Given the description of an element on the screen output the (x, y) to click on. 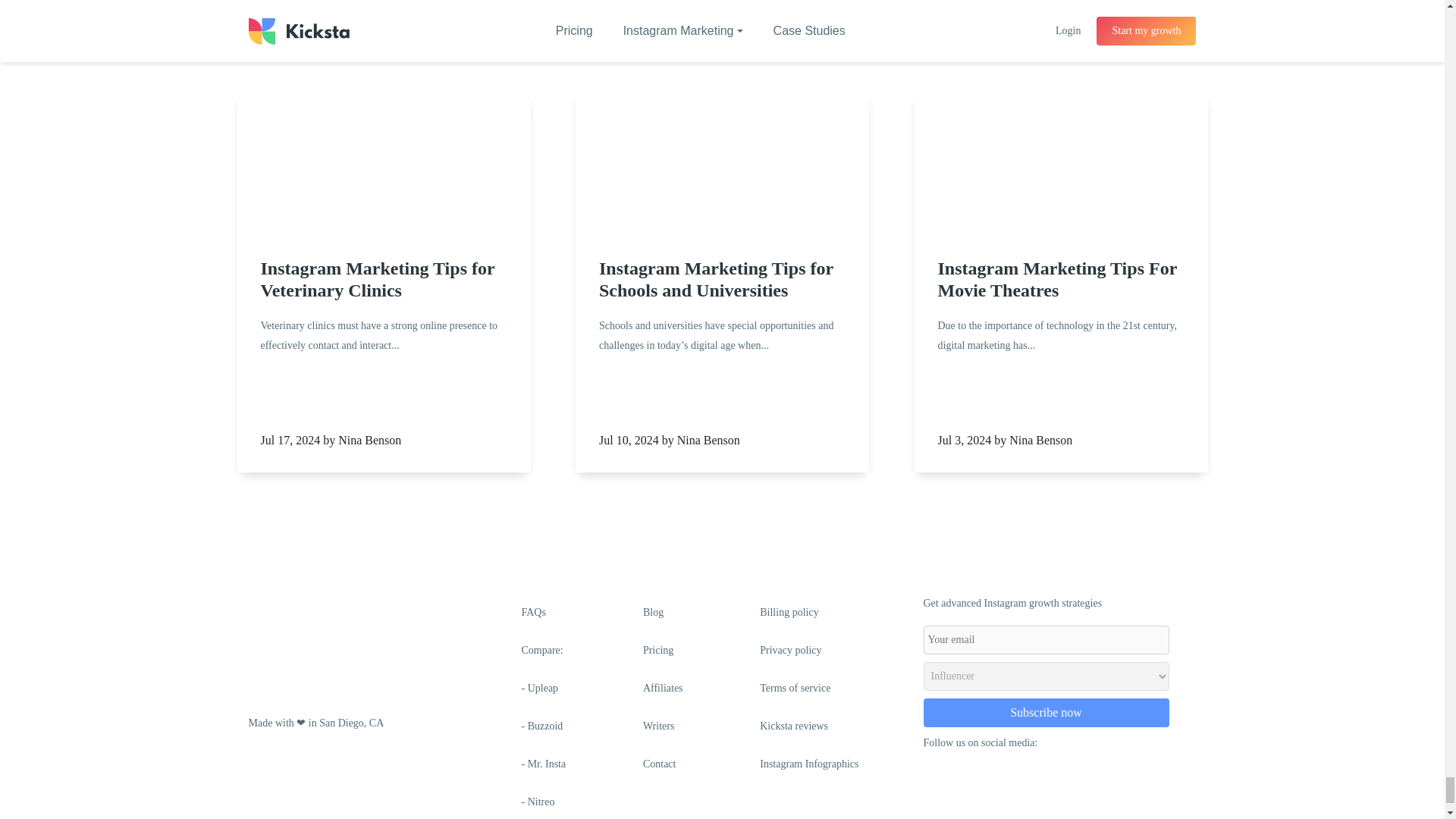
Subscribe now (1046, 712)
